Given the description of an element on the screen output the (x, y) to click on. 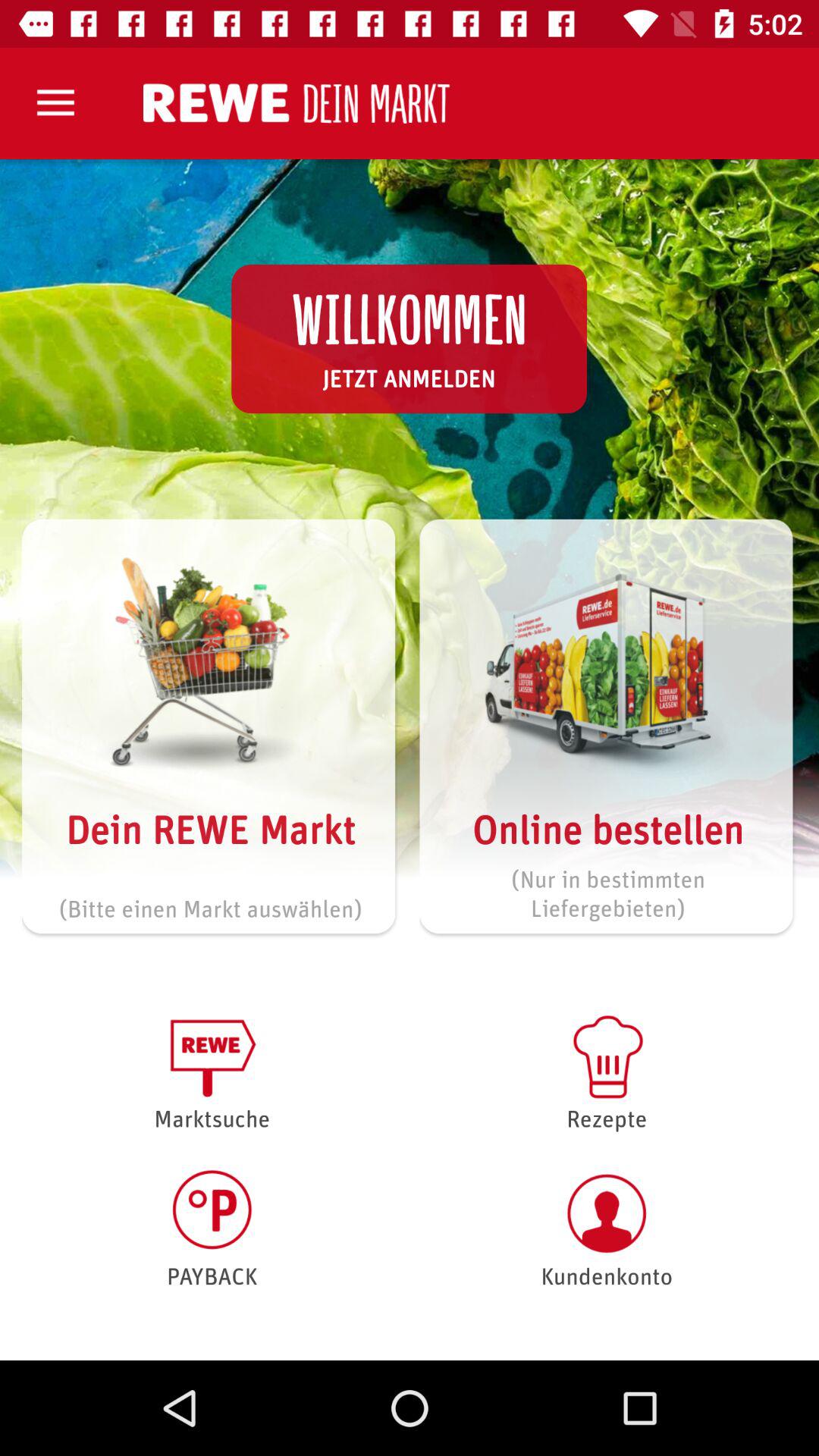
launch the item below willkommen item (408, 378)
